Given the description of an element on the screen output the (x, y) to click on. 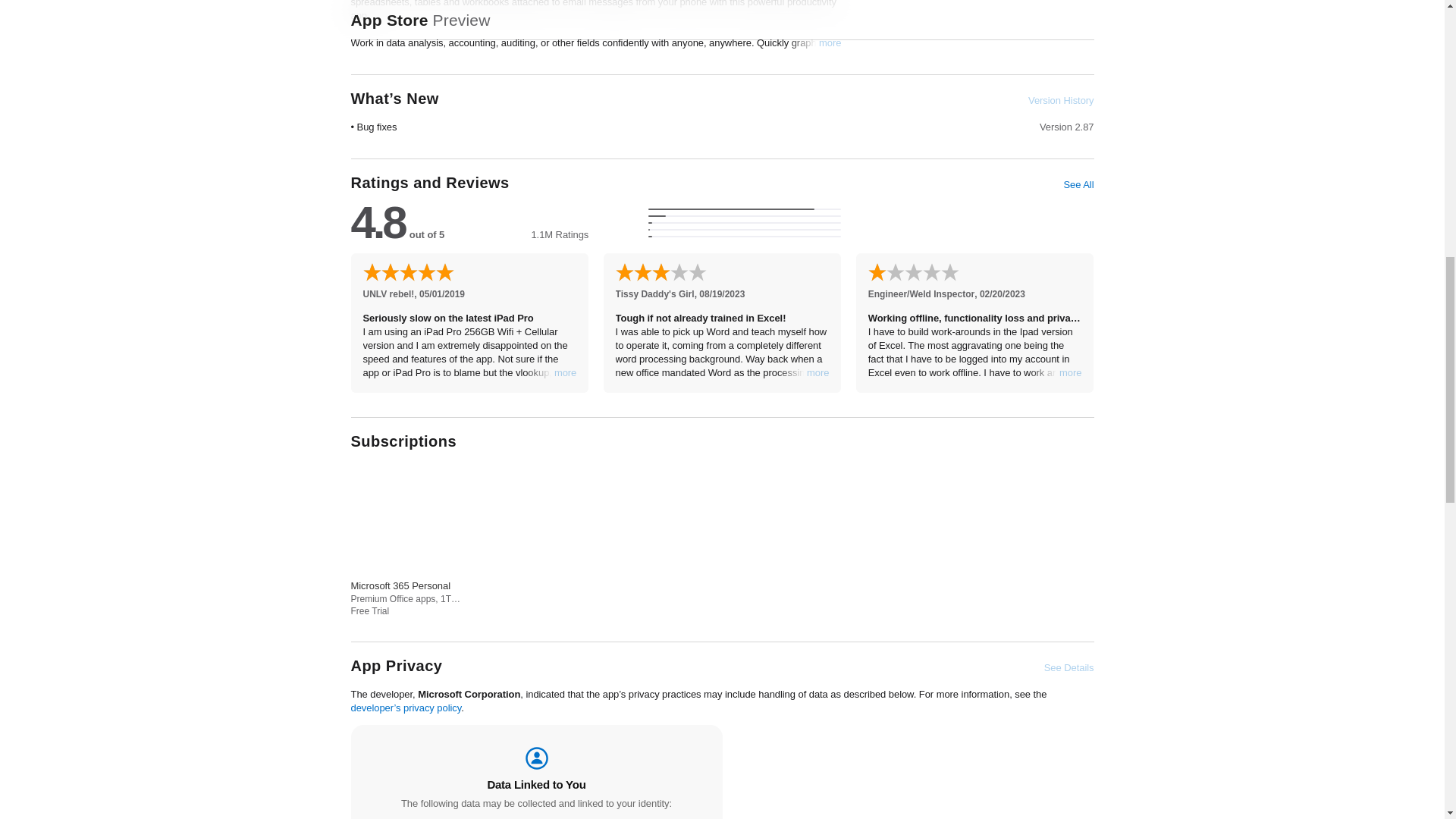
more (1070, 373)
more (829, 42)
See Details (1068, 667)
more (817, 373)
more (565, 373)
See All (1077, 184)
Version History (1060, 100)
